Given the description of an element on the screen output the (x, y) to click on. 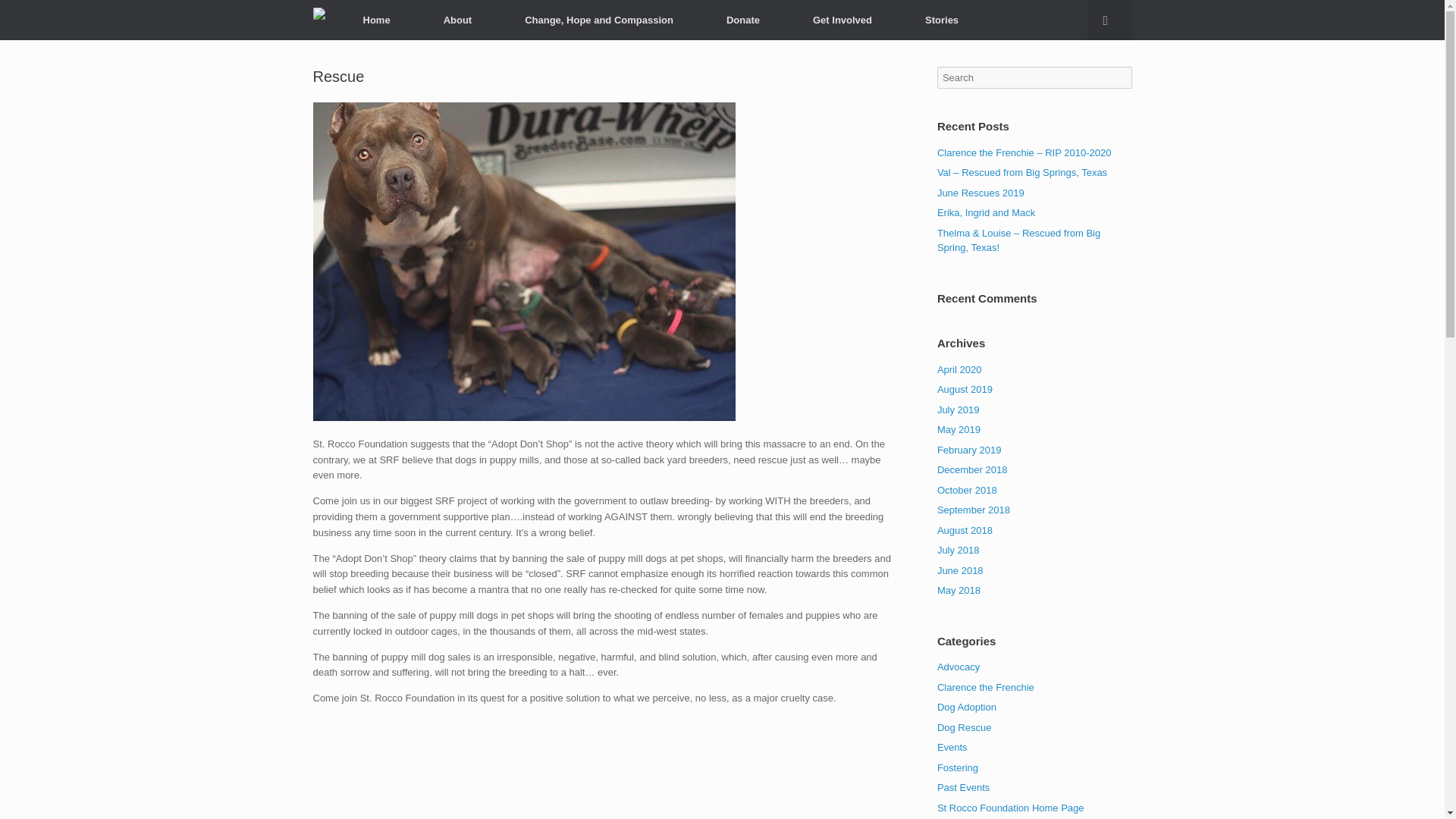
About (457, 20)
Stories (941, 20)
Erika, Ingrid and Mack (986, 212)
May 2019 (958, 429)
February 2019 (969, 449)
May 2018 (958, 590)
July 2018 (958, 550)
December 2018 (972, 469)
Get Involved (842, 20)
September 2018 (973, 509)
